Given the description of an element on the screen output the (x, y) to click on. 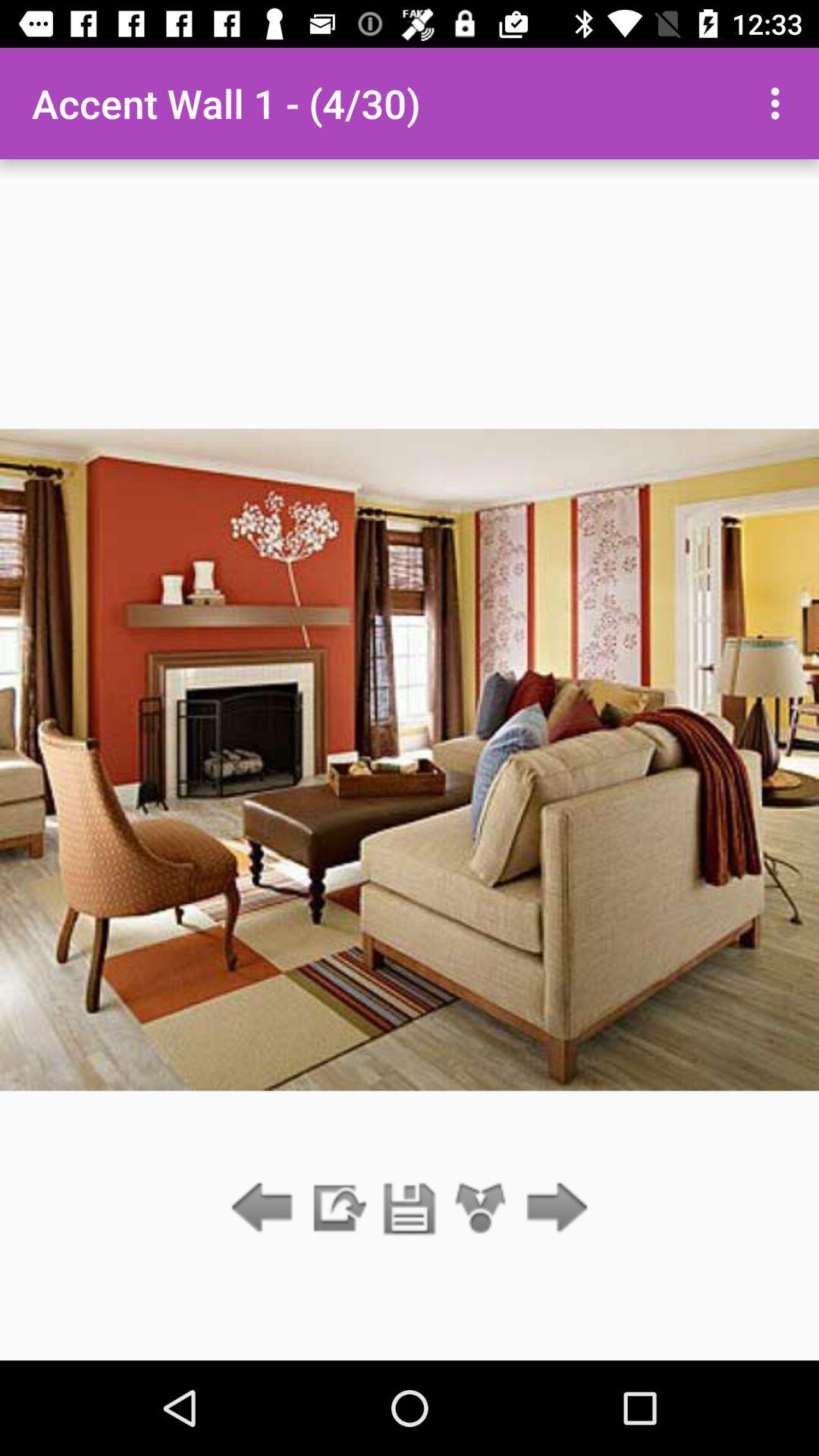
next screen (552, 1209)
